Given the description of an element on the screen output the (x, y) to click on. 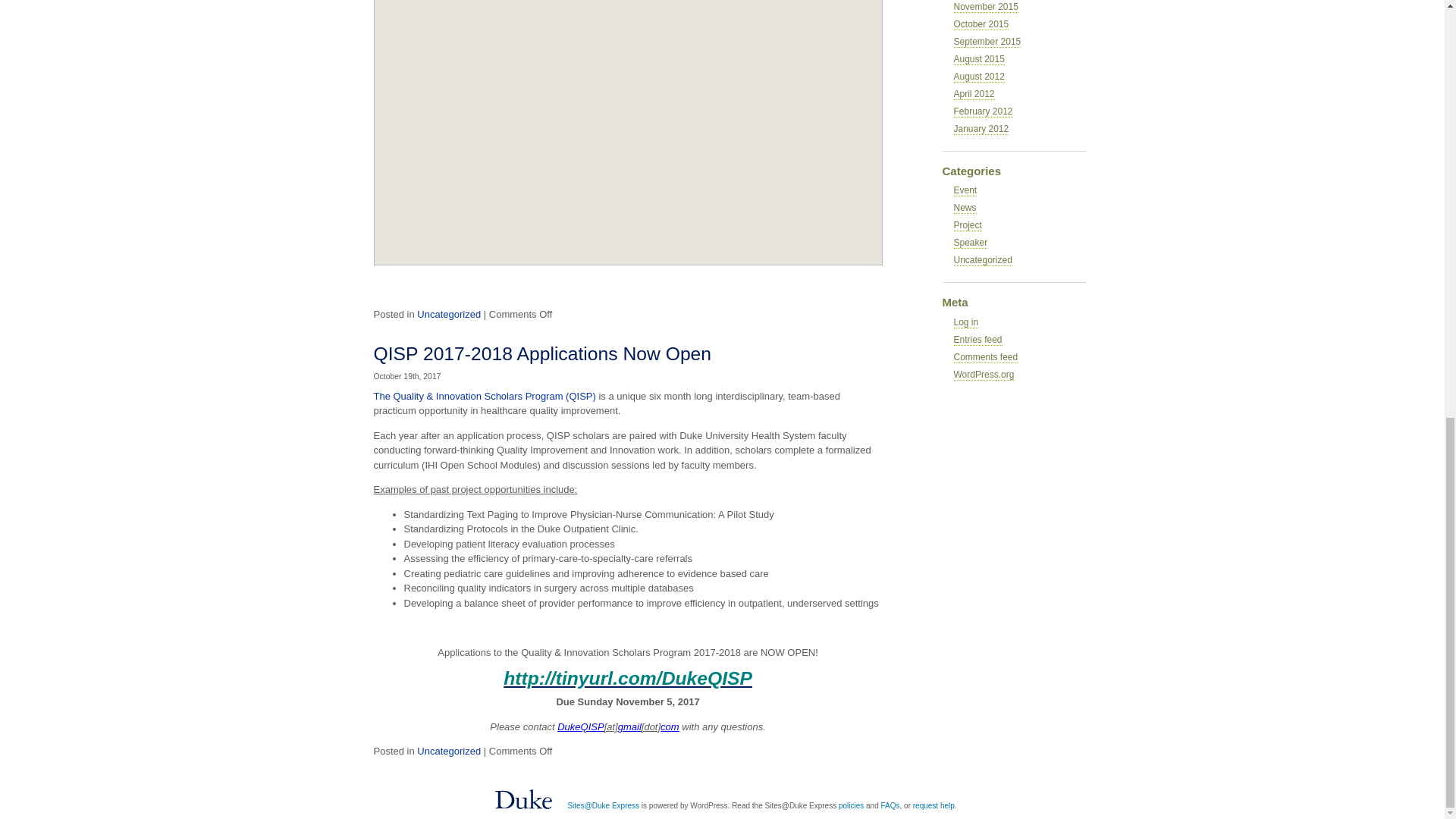
Uncategorized (448, 314)
Visit Duke.edu (523, 797)
Permalink to QISP 2017-2018 Applications Now Open (541, 353)
QISP 2017-2018 Applications Now Open (541, 353)
Uncategorized (448, 750)
